Given the description of an element on the screen output the (x, y) to click on. 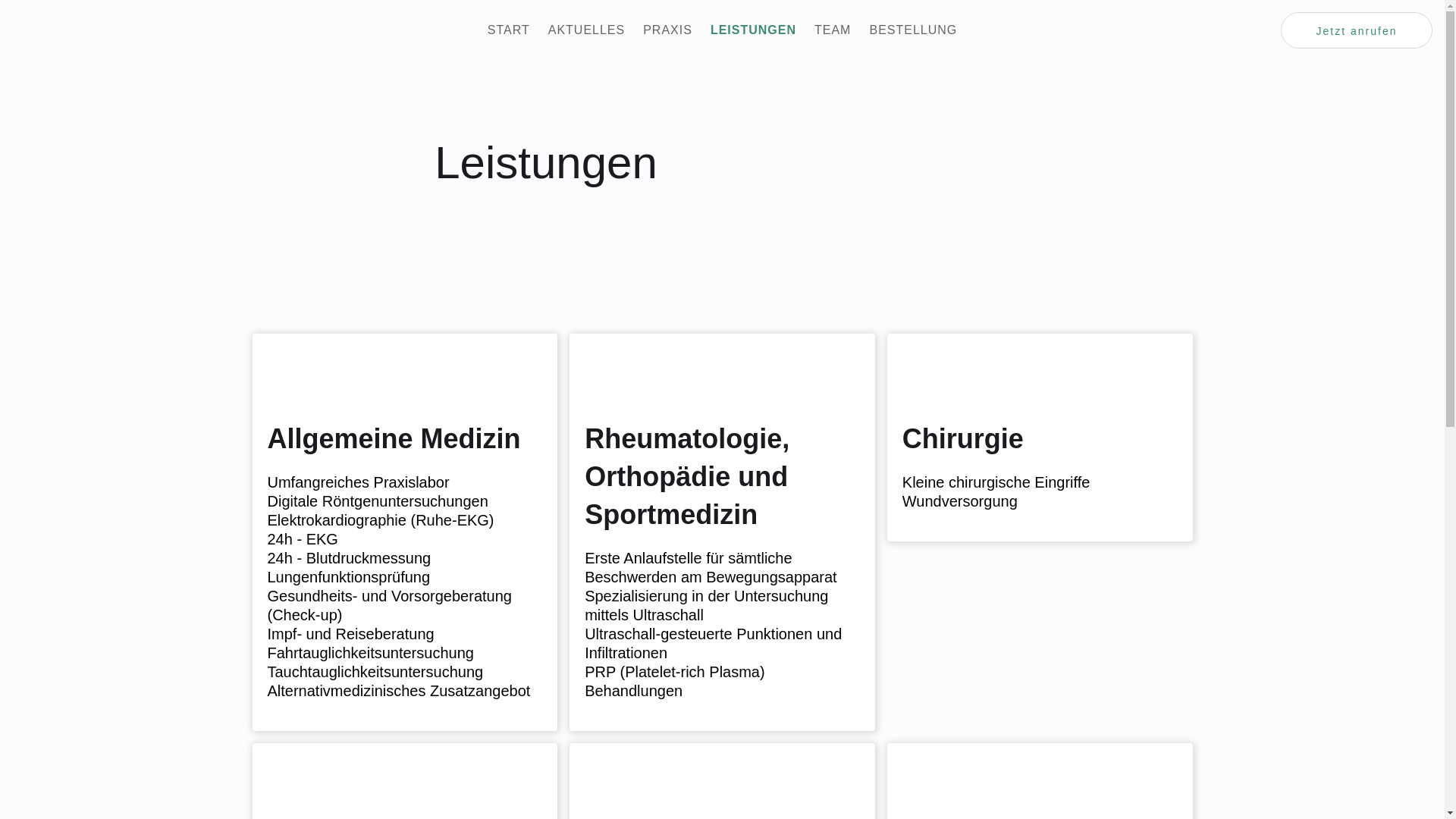
BESTELLUNG Element type: text (912, 29)
AKTUELLES Element type: text (586, 29)
TEAM Element type: text (832, 29)
LEISTUNGEN Element type: text (753, 29)
Jetzt anrufen Element type: text (1356, 30)
START Element type: text (508, 29)
PRAXIS Element type: text (667, 29)
